Given the description of an element on the screen output the (x, y) to click on. 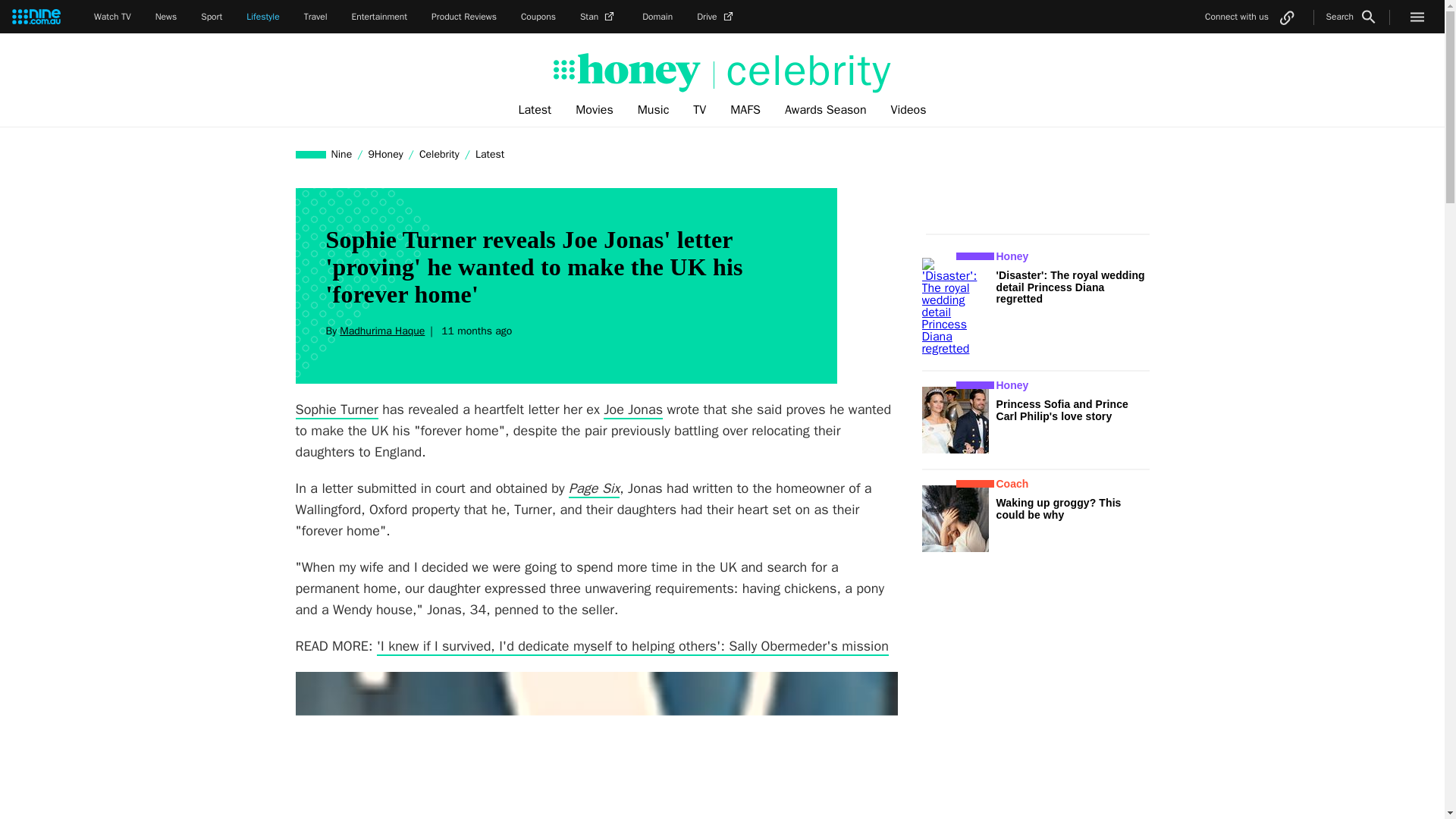
Joe Jonas (633, 410)
Latest (489, 154)
Drive (716, 16)
Product Reviews (463, 16)
2023-09-30 03:02 (473, 330)
Domain (657, 16)
MAFS (745, 109)
Page Six (594, 488)
Videos (909, 109)
